Given the description of an element on the screen output the (x, y) to click on. 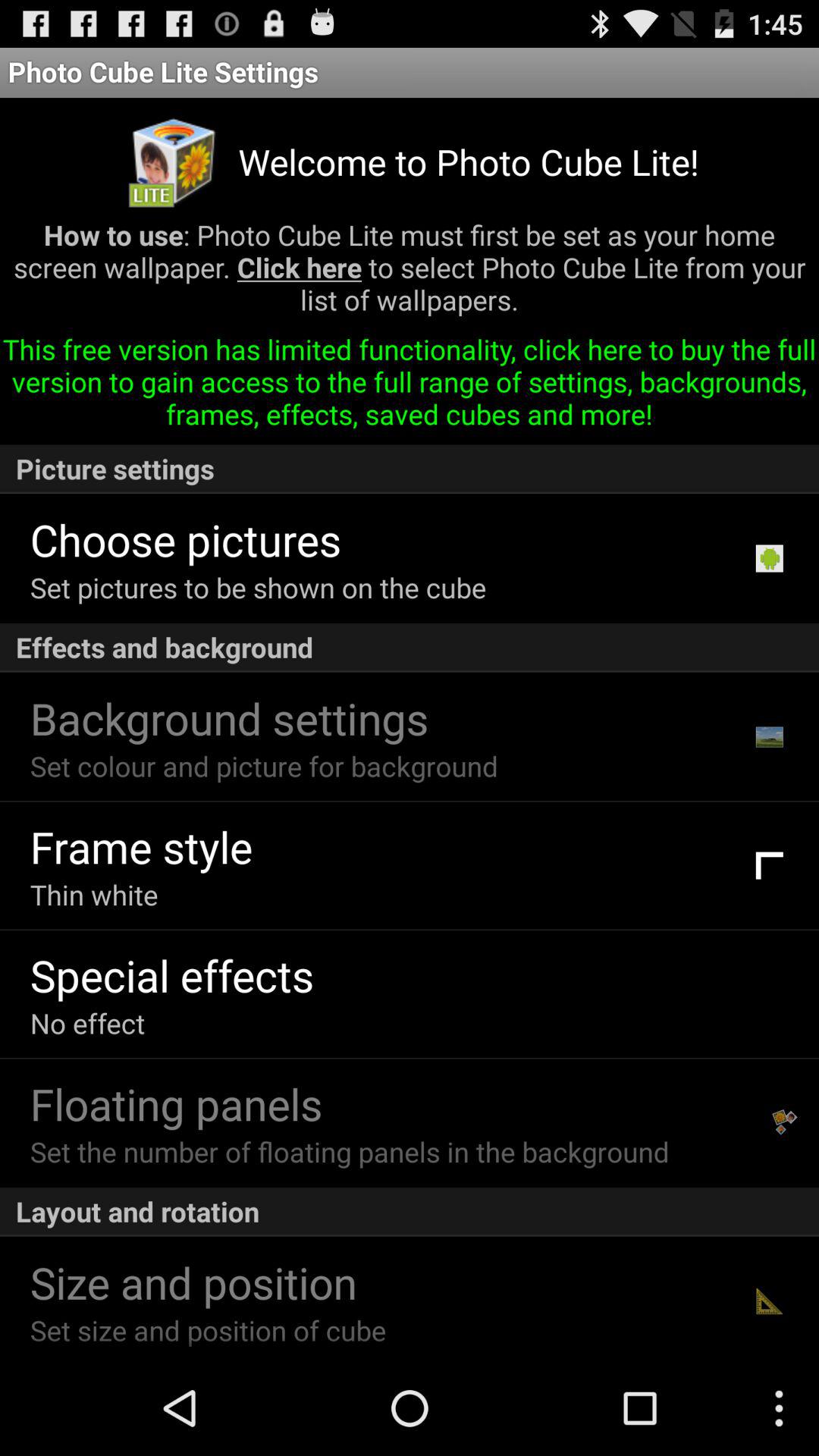
turn on the item to the right of the set pictures to (769, 558)
